Given the description of an element on the screen output the (x, y) to click on. 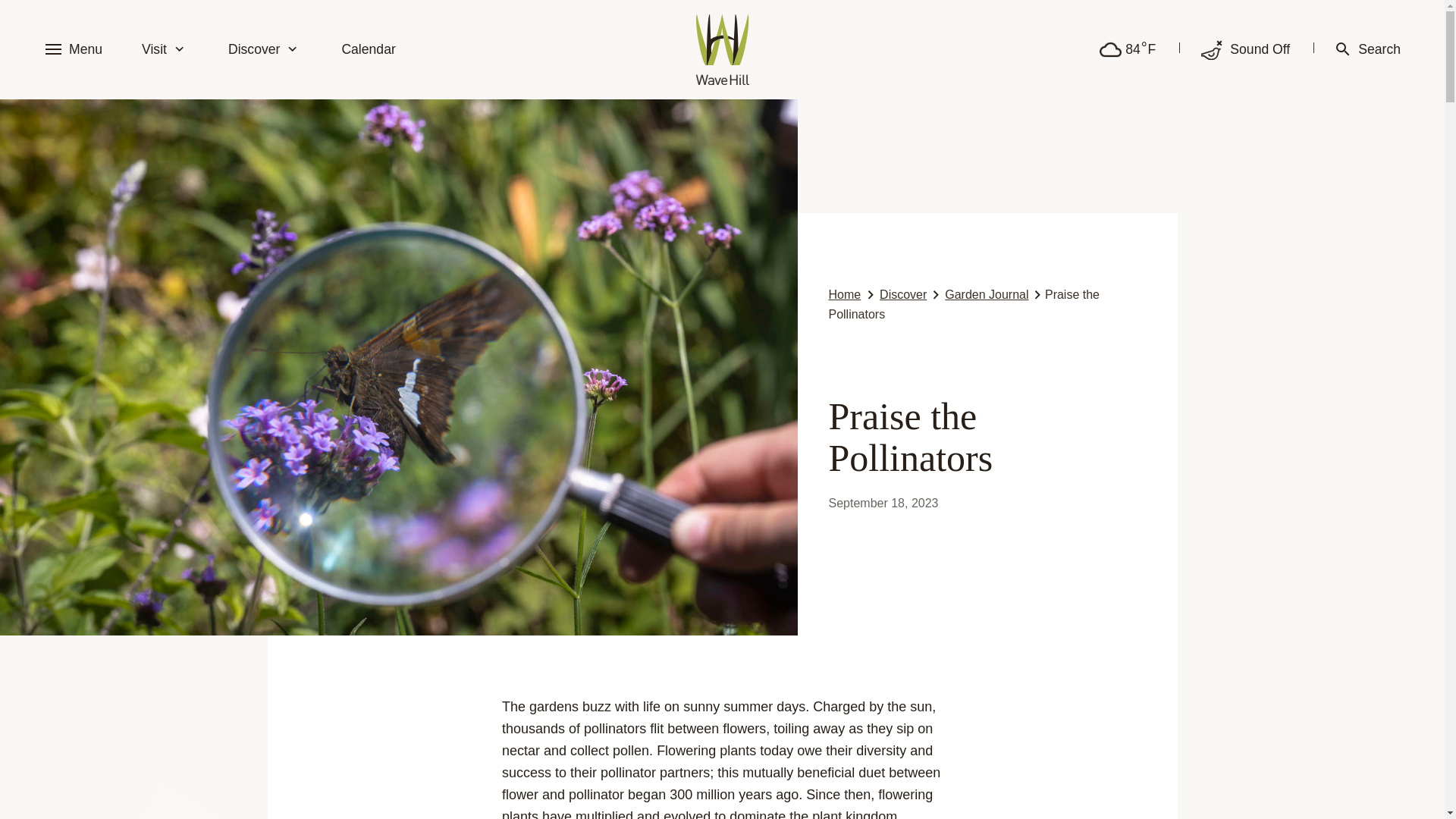
Menu (77, 49)
Sound Off (1245, 49)
Discover (265, 49)
Search (1367, 49)
